Given the description of an element on the screen output the (x, y) to click on. 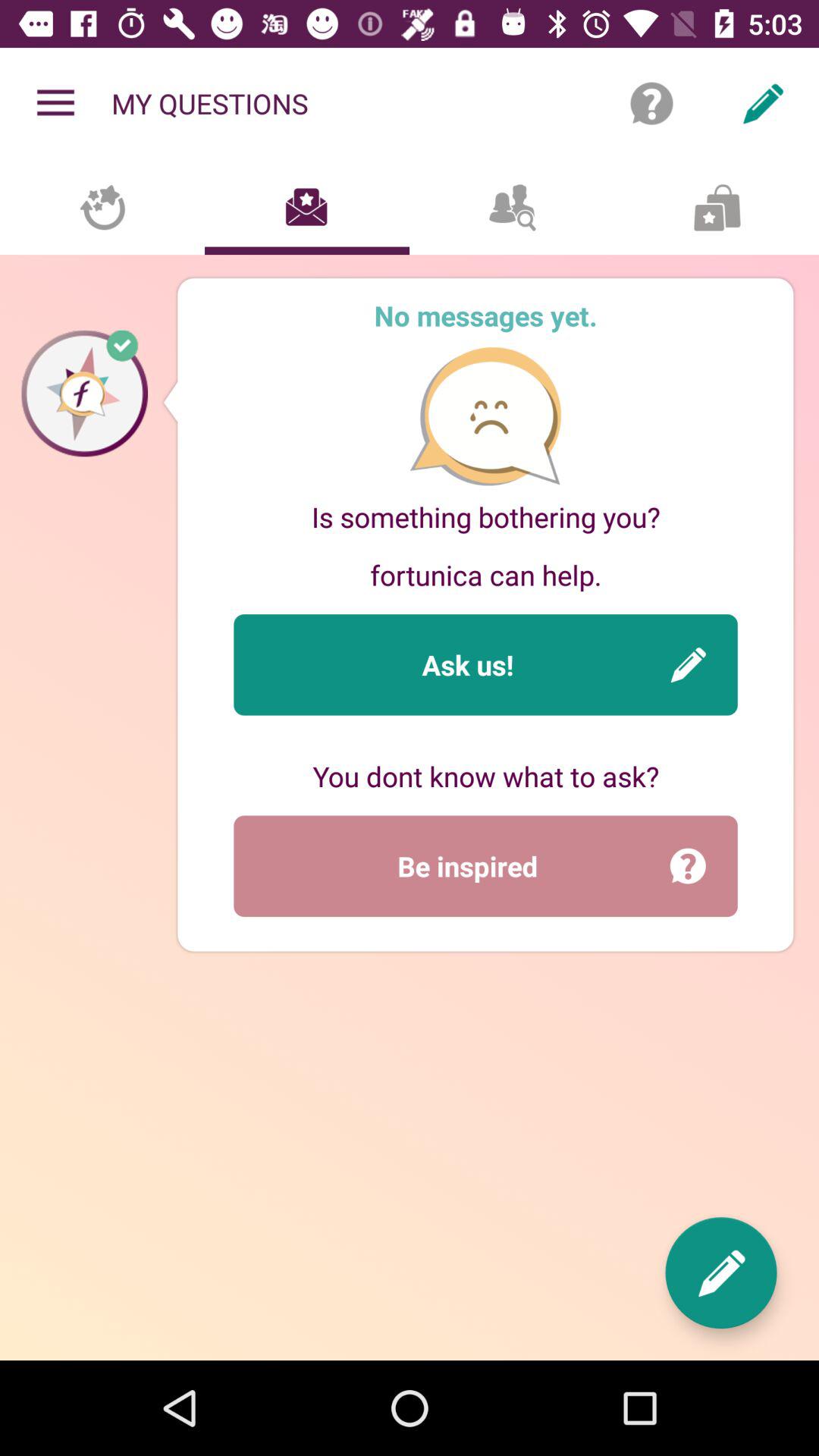
click item below be inspired icon (720, 1272)
